Given the description of an element on the screen output the (x, y) to click on. 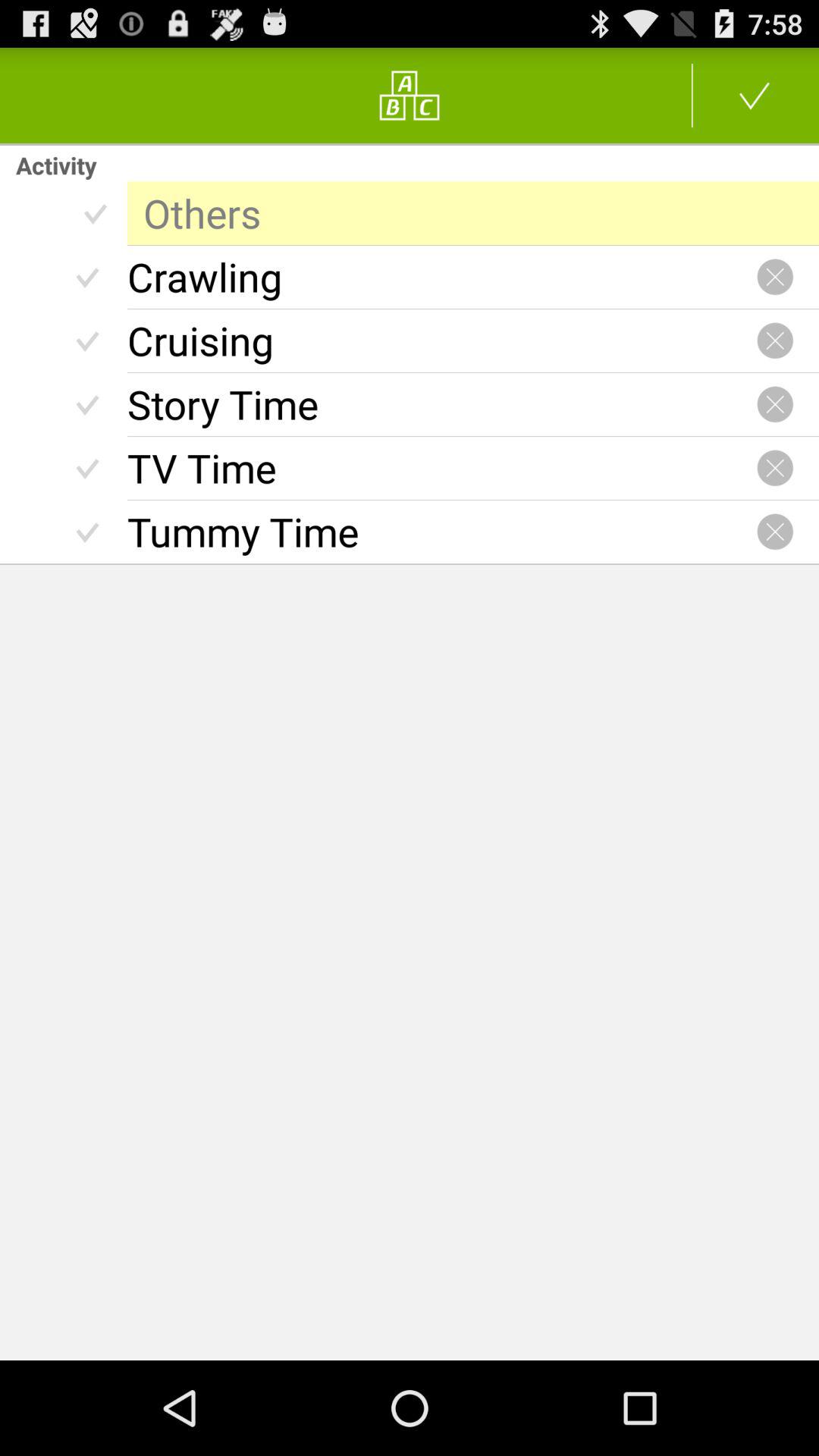
turn off icon on the right (775, 531)
